Given the description of an element on the screen output the (x, y) to click on. 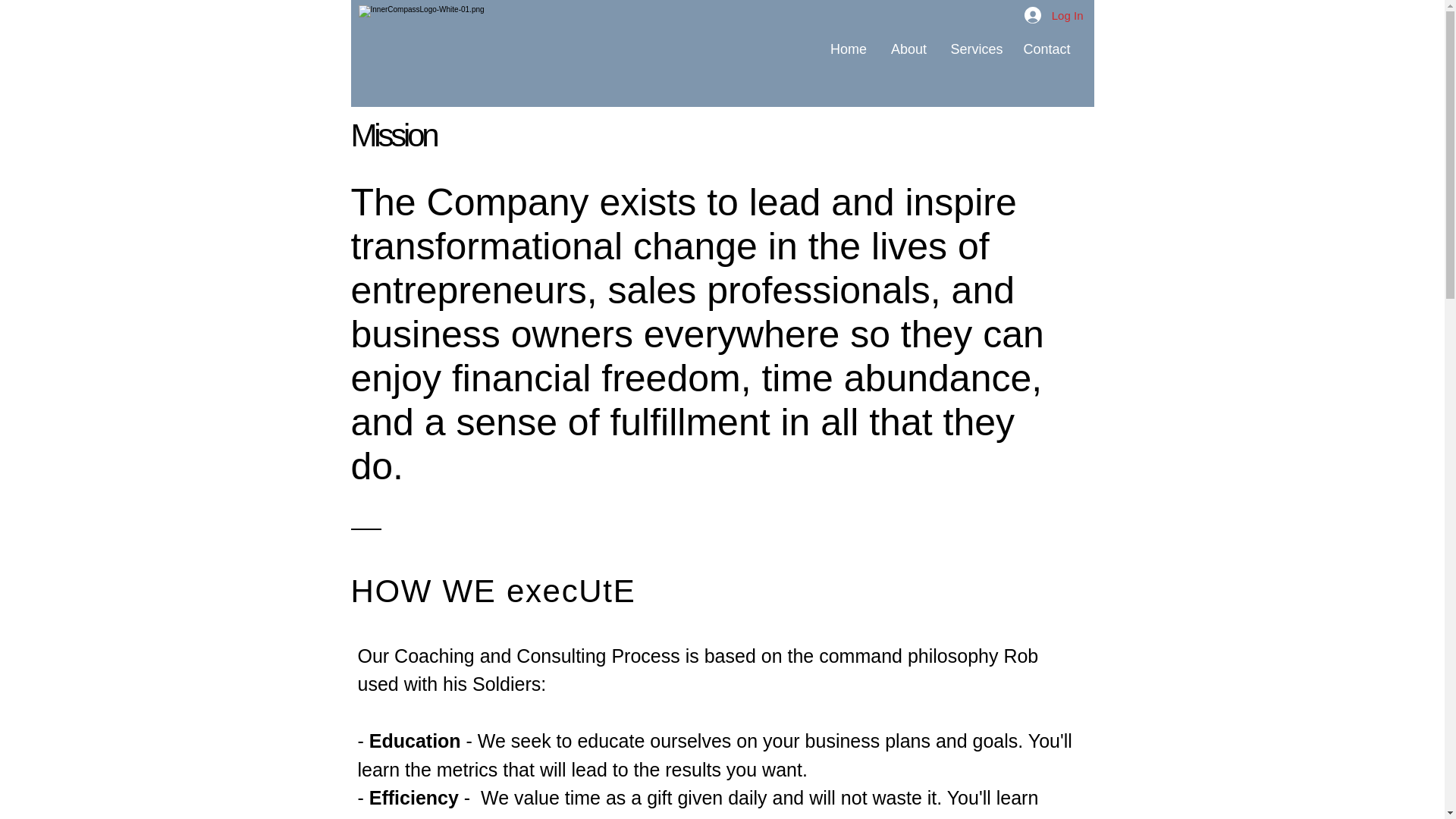
Services (974, 48)
About (908, 48)
Home (848, 48)
Log In (1053, 14)
Contact (1047, 48)
